Given the description of an element on the screen output the (x, y) to click on. 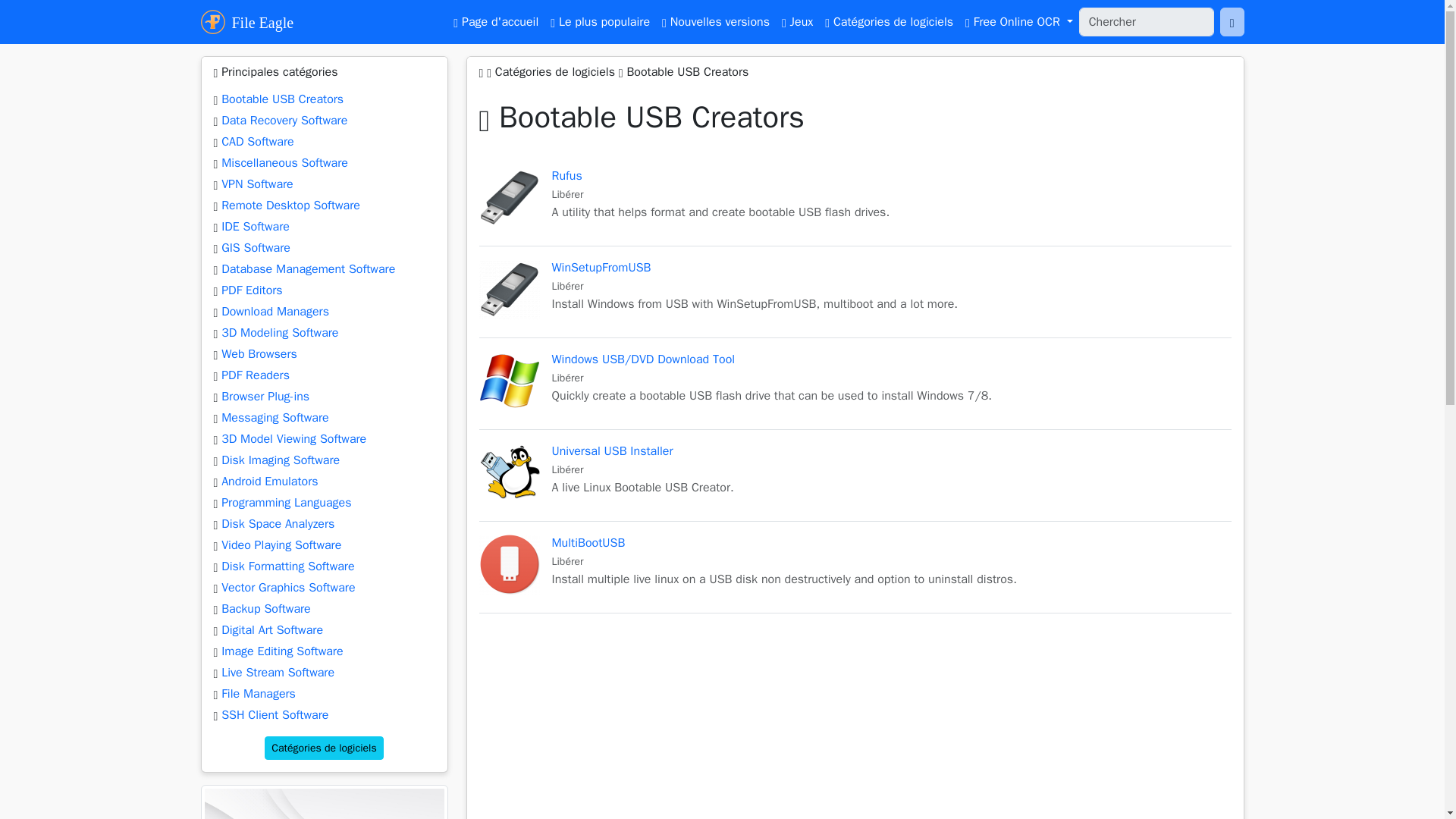
PDF Readers (255, 375)
Backup Software (266, 608)
Android Emulators (269, 481)
3D Modeling Software (279, 332)
Le plus populaire (600, 21)
Programming Languages (285, 502)
